Given the description of an element on the screen output the (x, y) to click on. 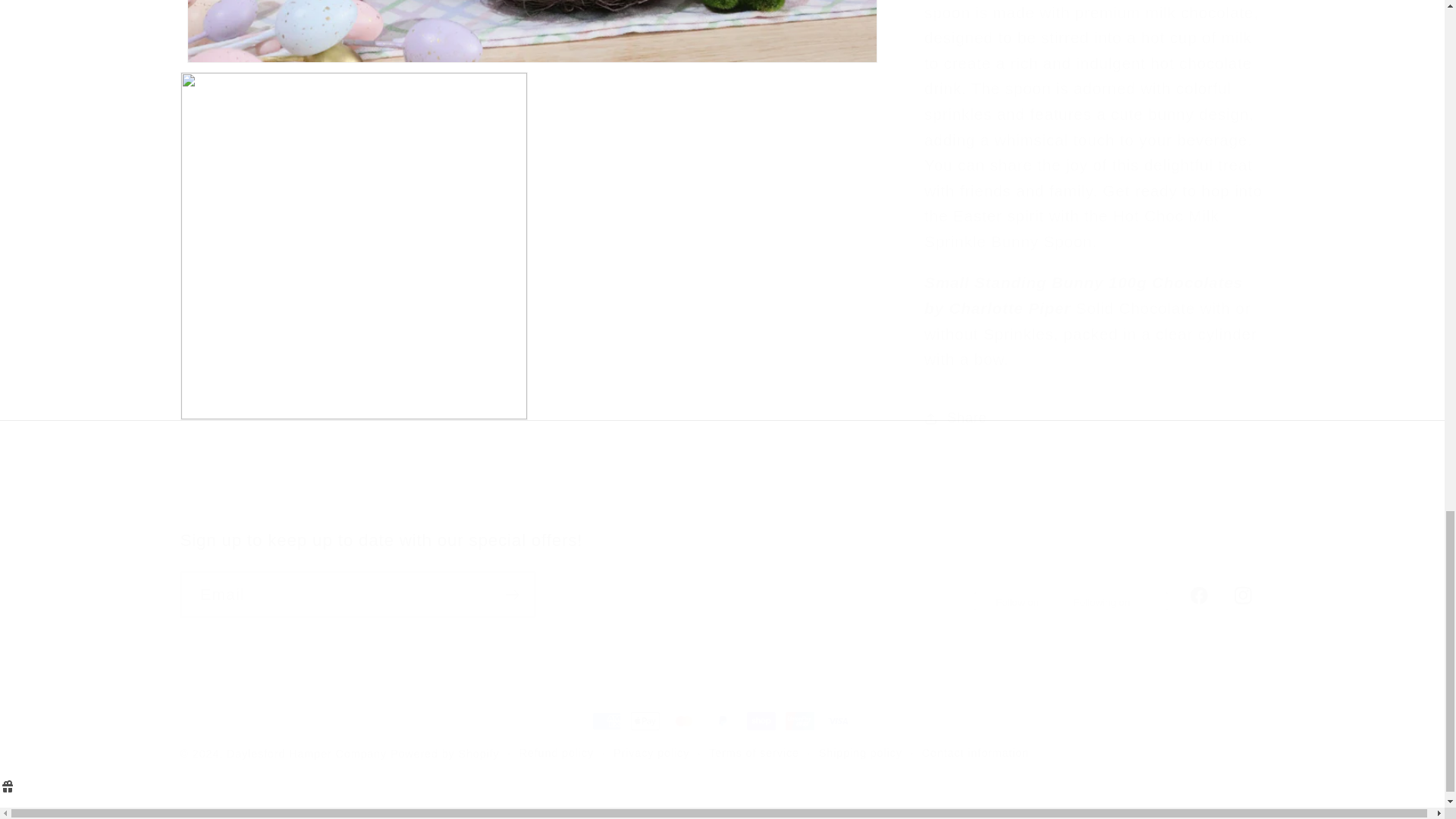
Search About Us Contact us FAQ's (721, 503)
Search About Us Contact us FAQ's (722, 483)
